Given the description of an element on the screen output the (x, y) to click on. 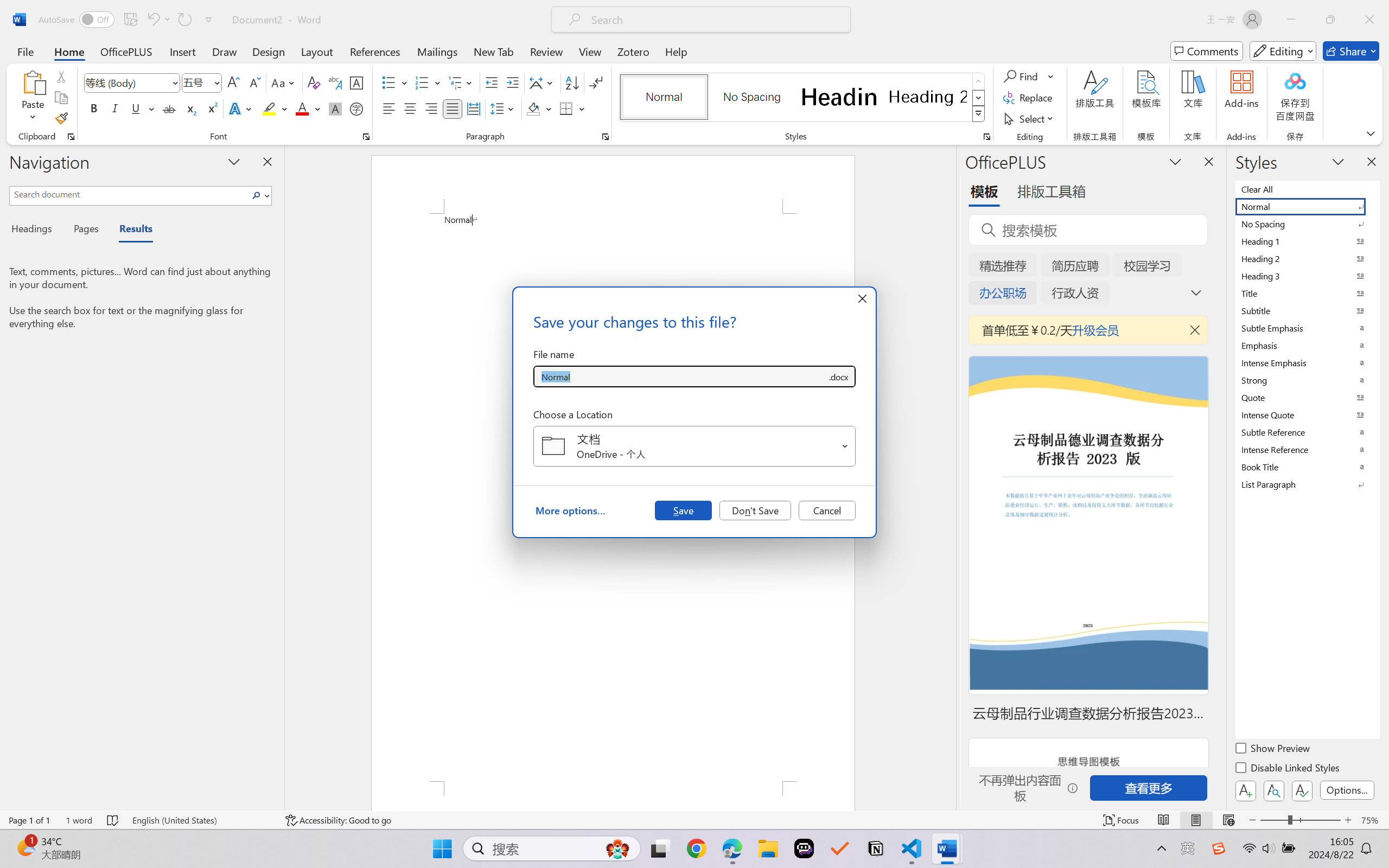
Font Color Red (302, 108)
Numbering (421, 82)
Search (256, 195)
Subscript (190, 108)
Home (69, 51)
Clear Formatting (313, 82)
Sort... (571, 82)
Save as type (837, 376)
Asian Layout (542, 82)
